Given the description of an element on the screen output the (x, y) to click on. 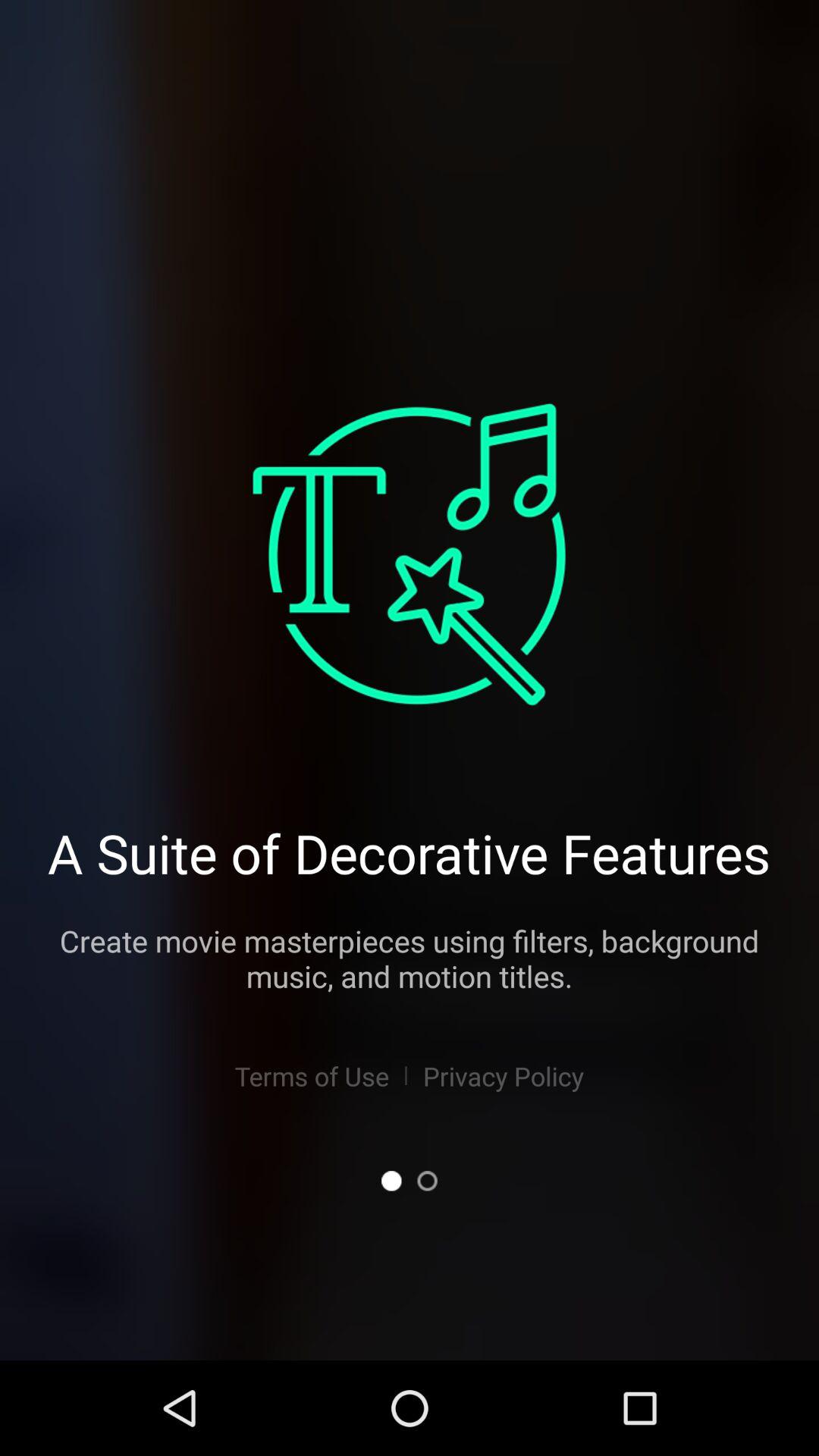
choose item below create movie masterpieces (503, 1075)
